Given the description of an element on the screen output the (x, y) to click on. 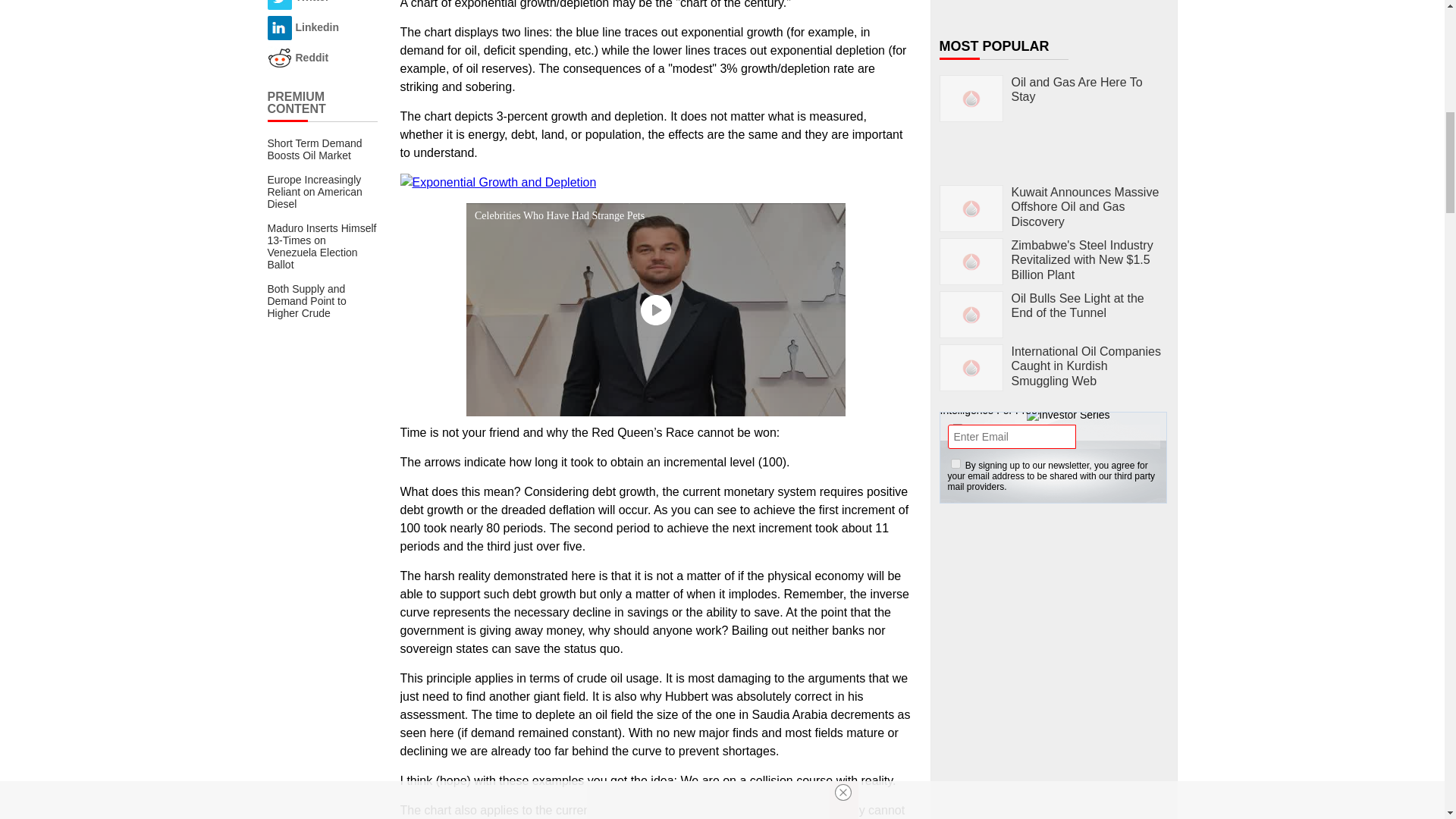
1 (955, 463)
3rd party ad content (1053, 772)
Exponential Growth and Depletion (498, 182)
3rd party ad content (1053, 610)
